Given the description of an element on the screen output the (x, y) to click on. 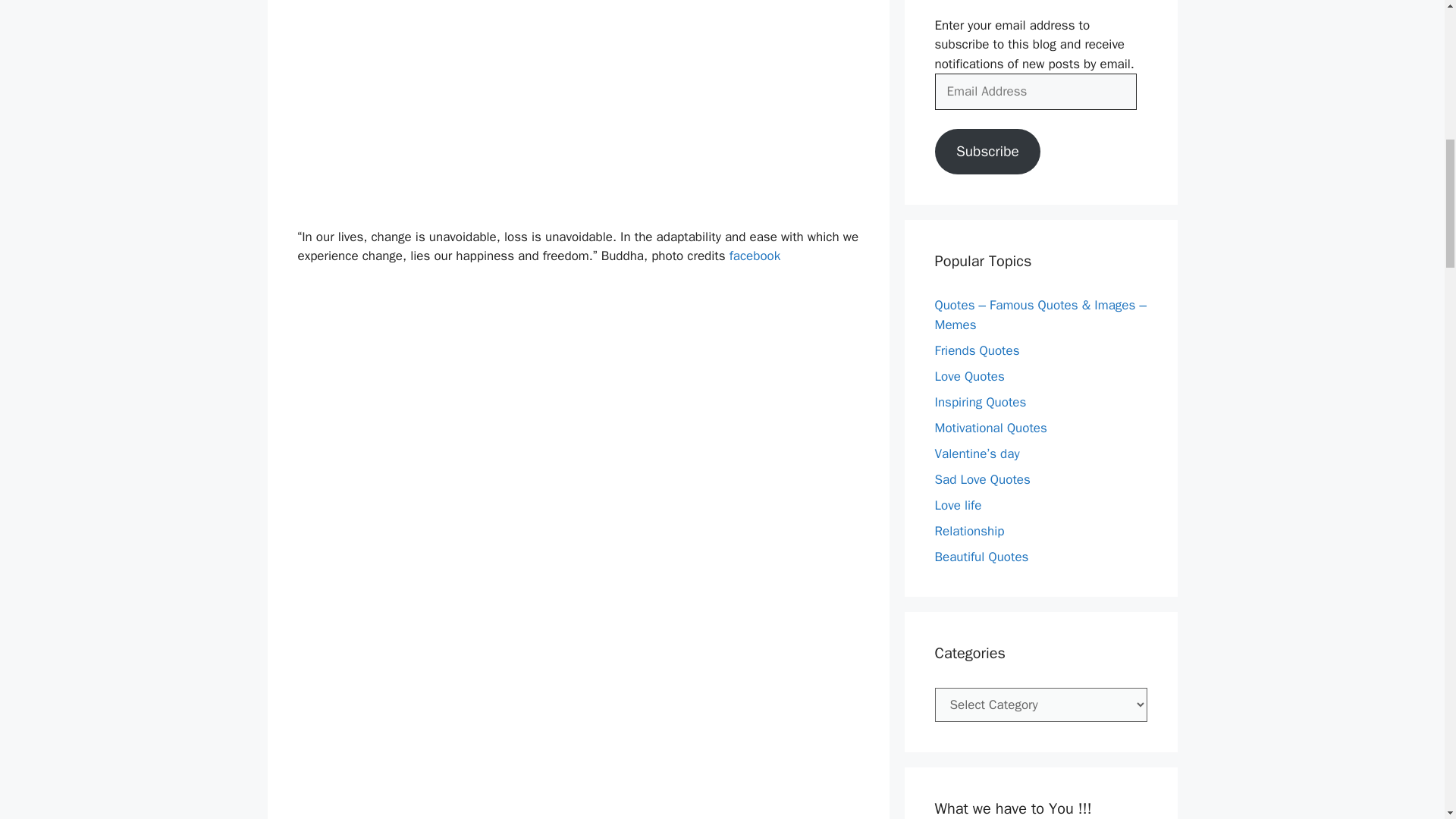
facebook (754, 255)
67 Most Inspiring Quotes on Life Love Happiness 6 (578, 775)
